Given the description of an element on the screen output the (x, y) to click on. 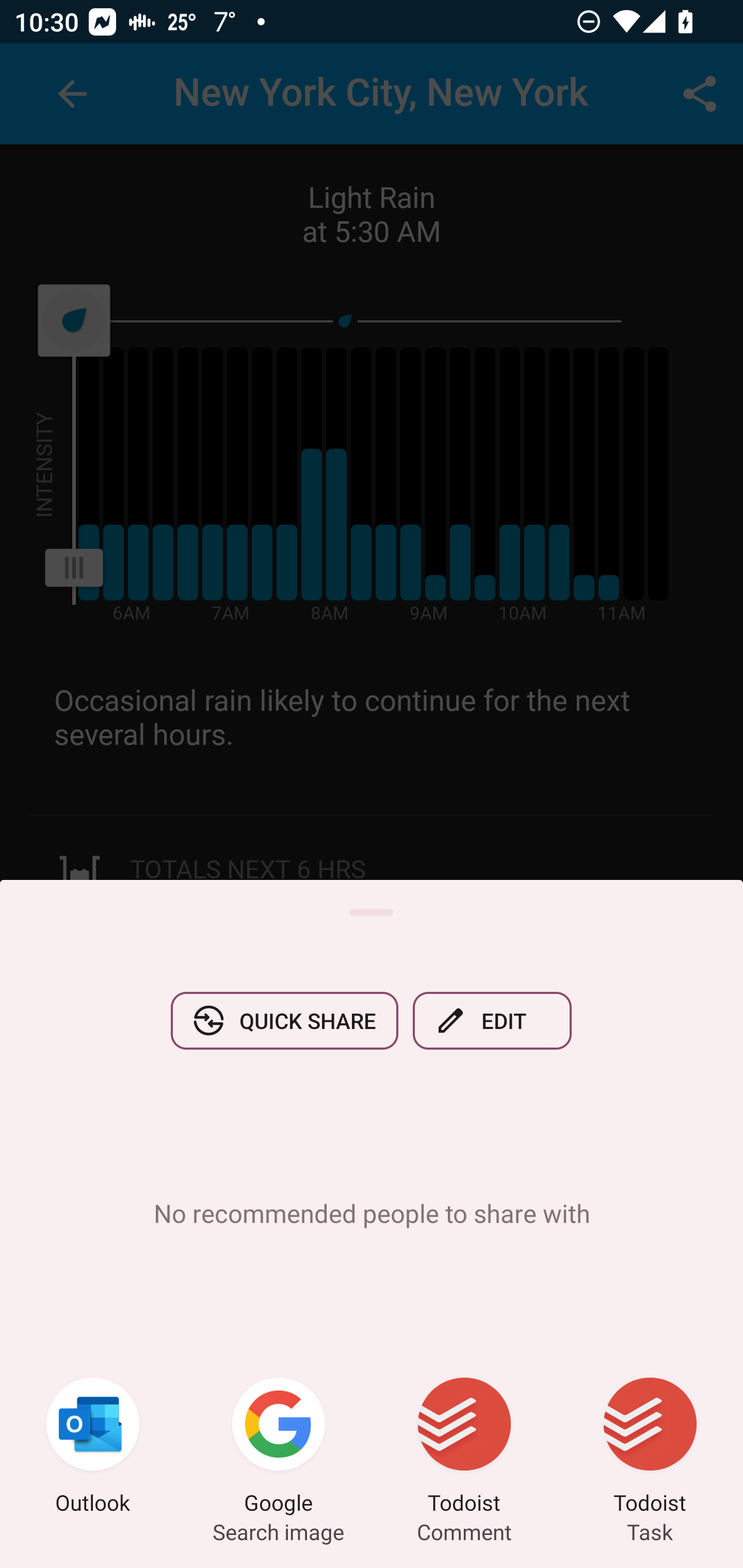
QUICK SHARE (284, 1020)
EDIT (492, 1020)
Outlook (92, 1448)
Google Search image (278, 1448)
Todoist Comment (464, 1448)
Todoist Task (650, 1448)
